Given the description of an element on the screen output the (x, y) to click on. 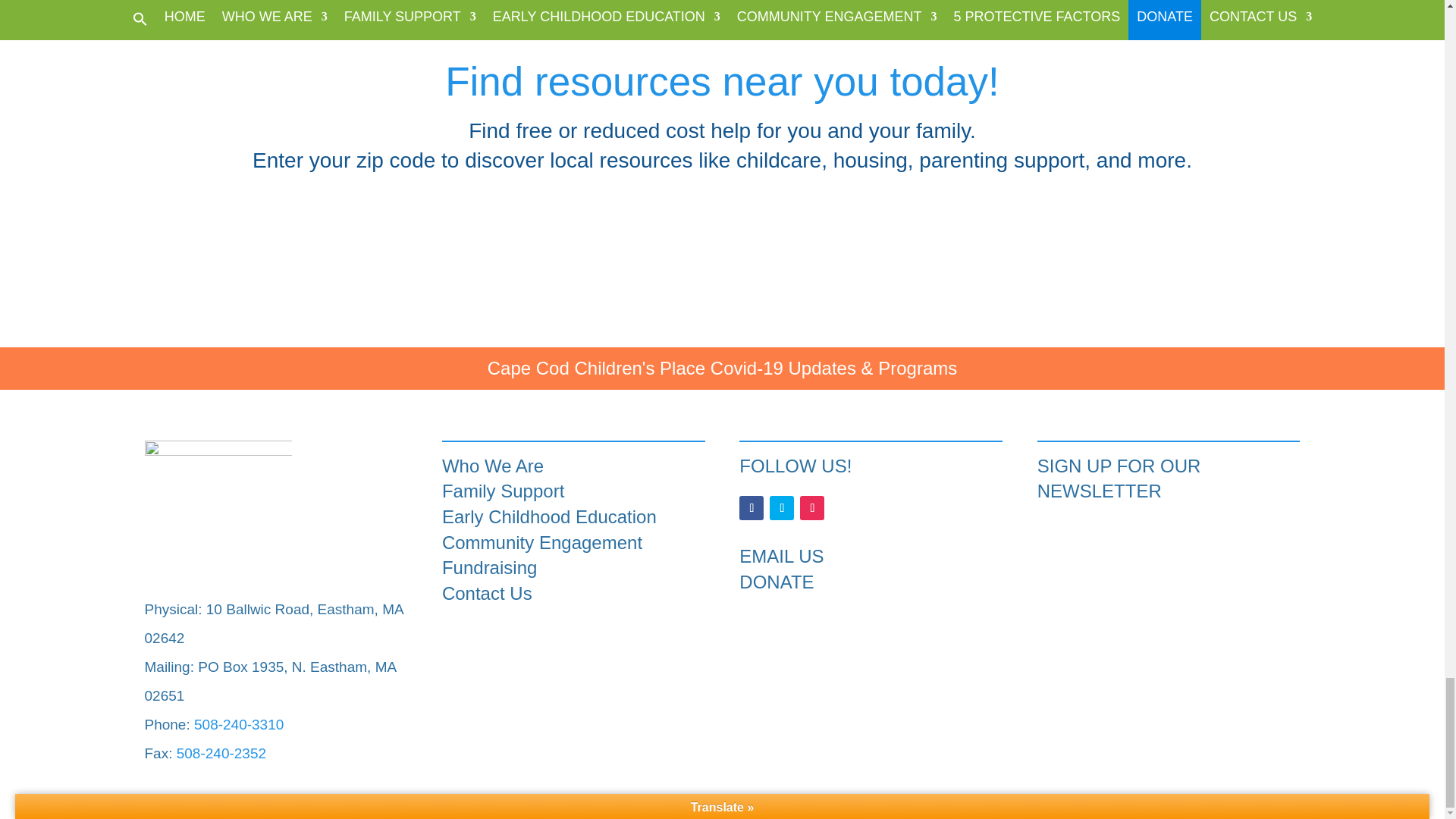
Follow on Instagram (811, 508)
CapeCod-ChildrensPlace-company-logo-512px (217, 514)
Follow on Twitter (781, 508)
Follow on Facebook (750, 508)
